Given the description of an element on the screen output the (x, y) to click on. 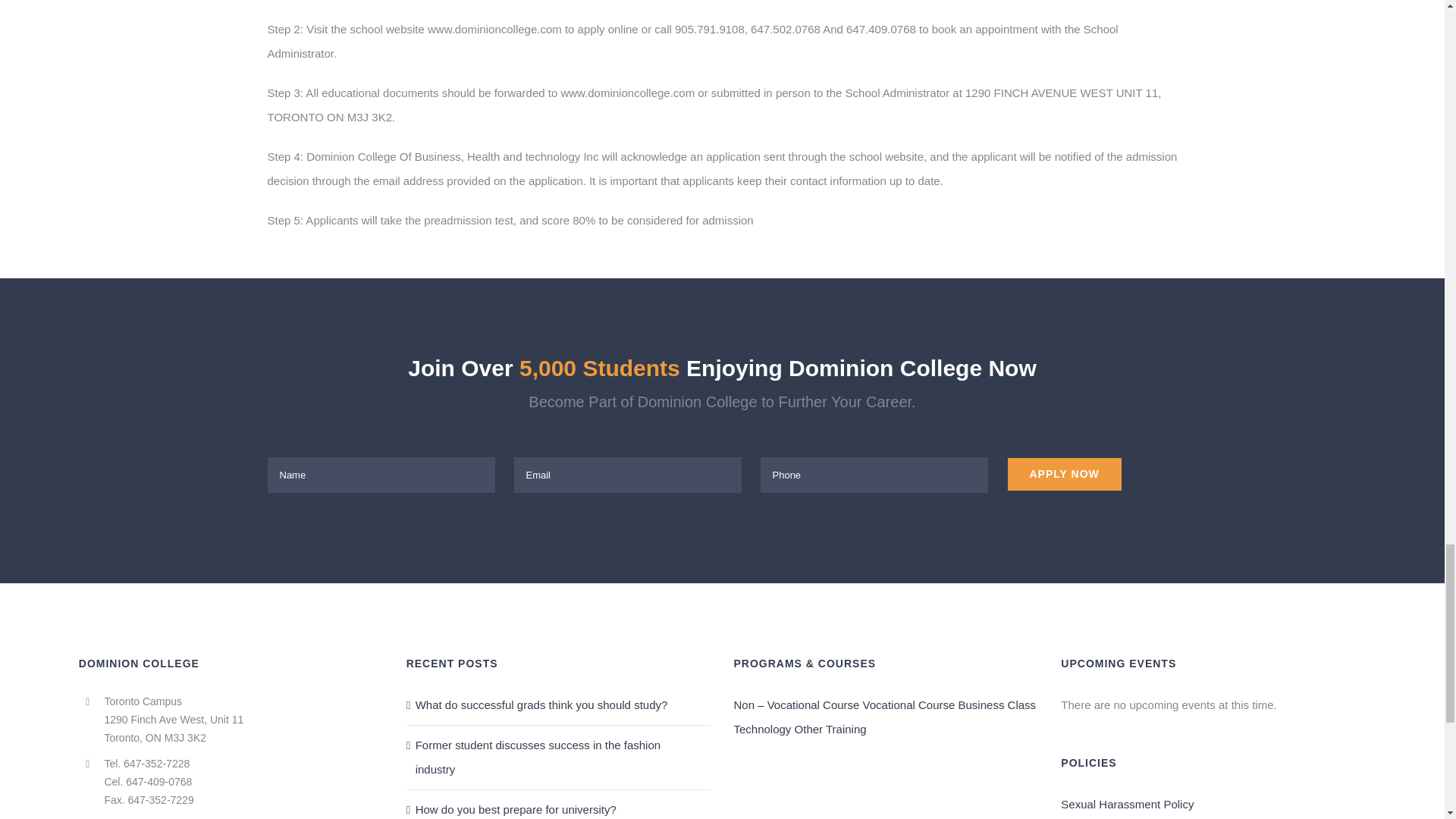
Technology (761, 728)
Apply Now (1064, 473)
Vocational Course (909, 704)
Business Classe (997, 704)
Other Training (830, 728)
Sexual Harassment Policy (1127, 803)
